Given the description of an element on the screen output the (x, y) to click on. 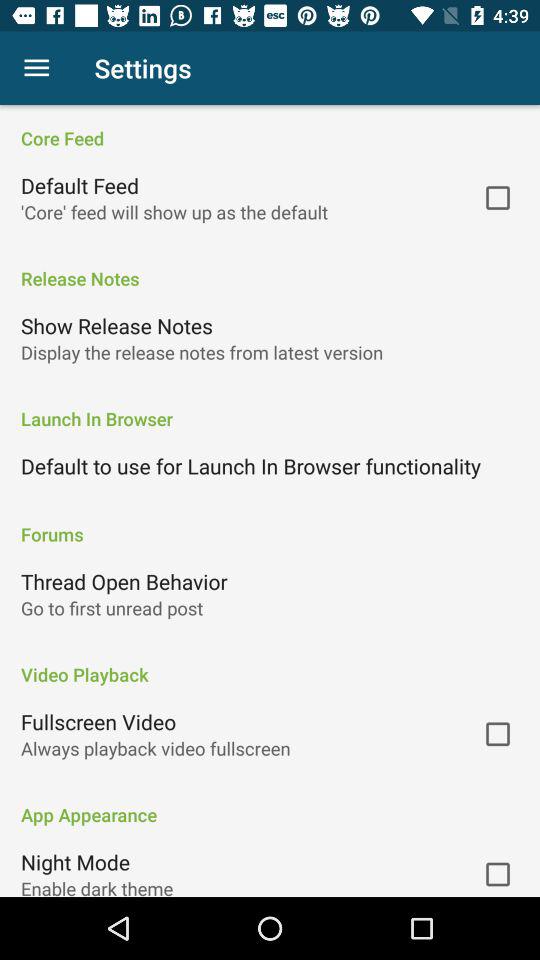
click on default feed box (497, 197)
